Given the description of an element on the screen output the (x, y) to click on. 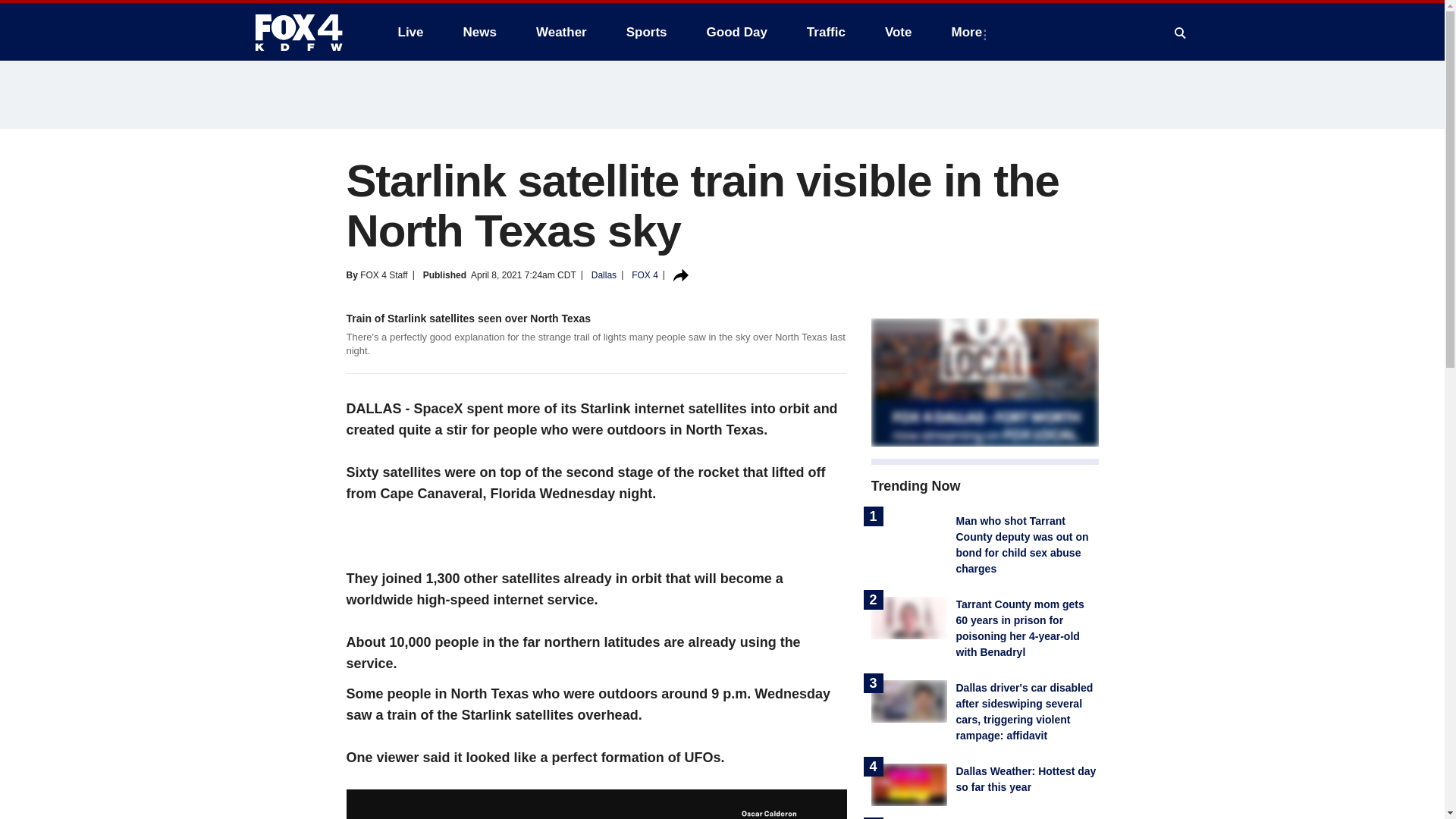
News (479, 32)
Live (410, 32)
Traffic (825, 32)
Vote (898, 32)
Weather (561, 32)
Good Day (736, 32)
More (969, 32)
Sports (646, 32)
